Given the description of an element on the screen output the (x, y) to click on. 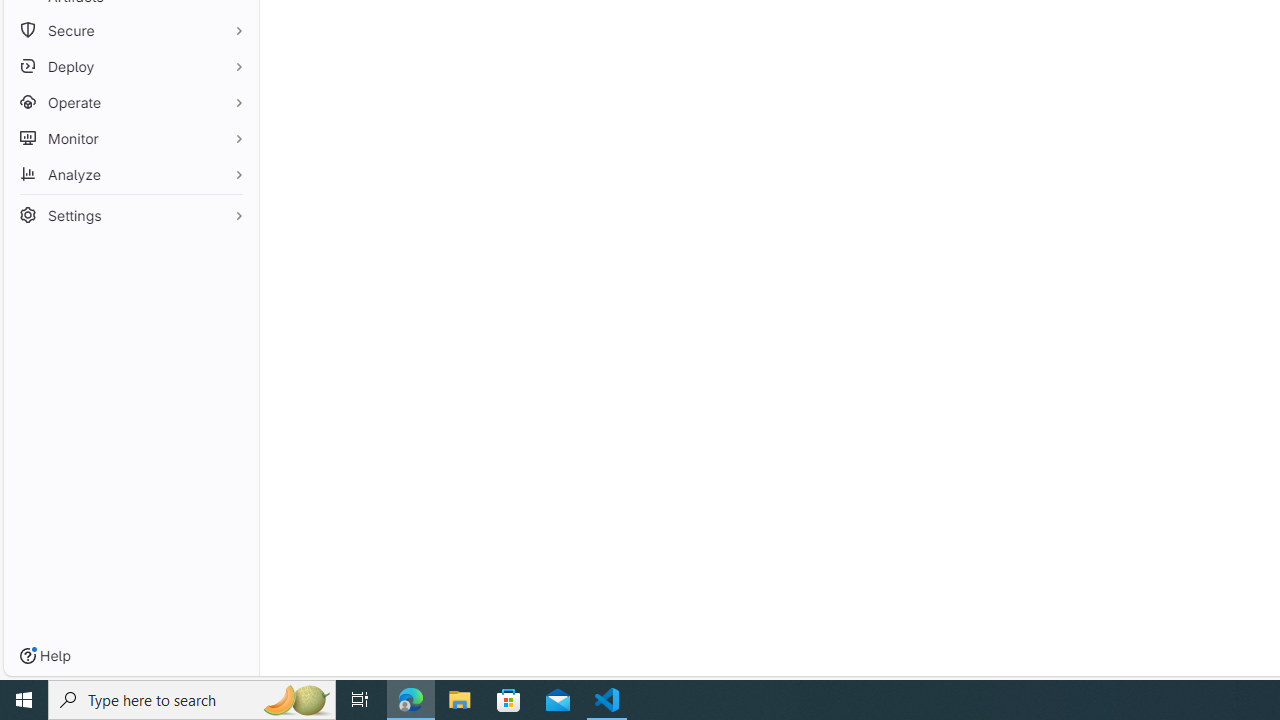
Operate (130, 101)
Monitor (130, 137)
Secure (130, 29)
Operate (130, 101)
Monitor (130, 137)
Deploy (130, 65)
Secure (130, 29)
Deploy (130, 65)
Analyze (130, 173)
Analyze (130, 173)
